Given the description of an element on the screen output the (x, y) to click on. 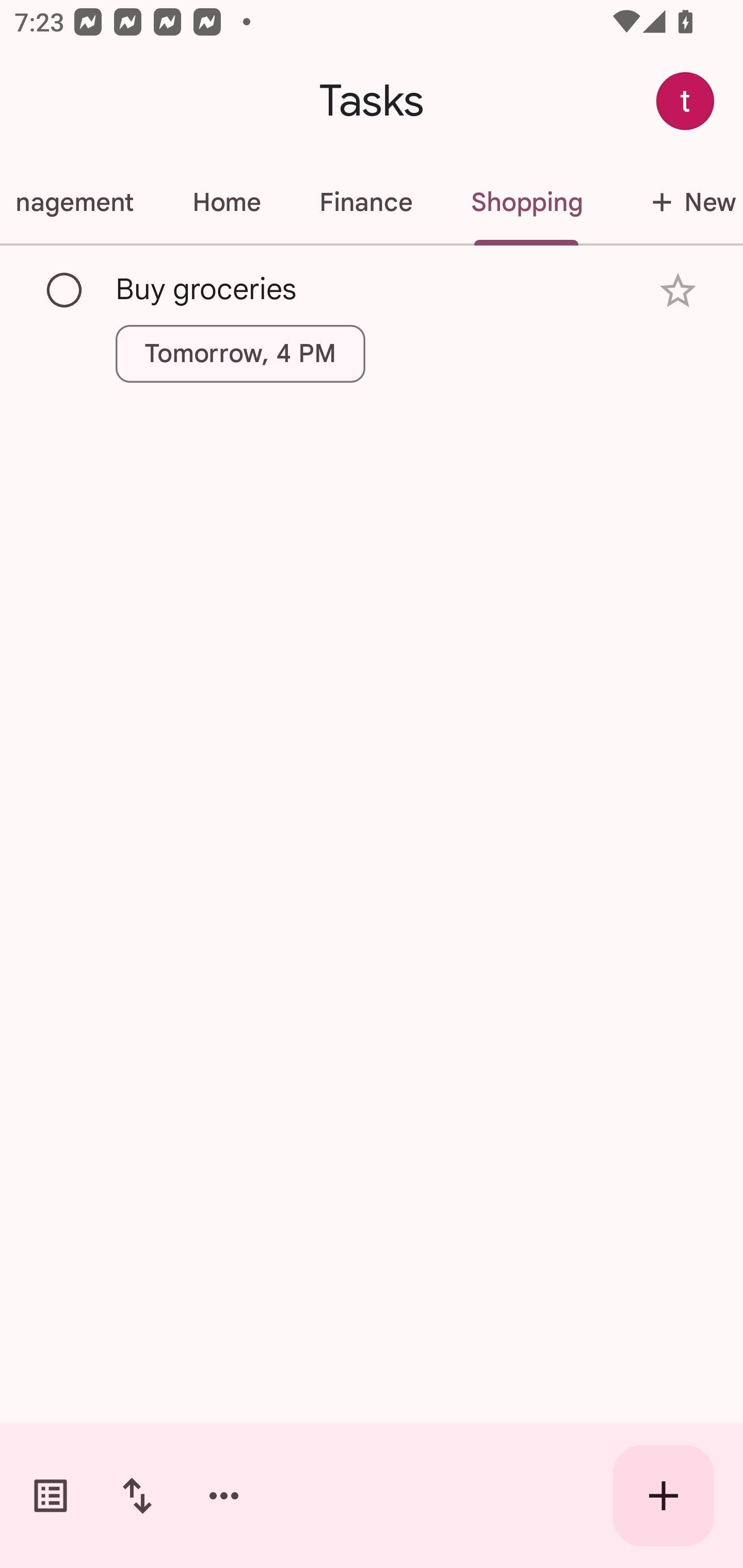
Home Management (81, 202)
Home (225, 202)
Finance (365, 202)
New list (677, 202)
Add star (677, 290)
Mark as complete (64, 290)
Tomorrow, 4 PM (240, 353)
Switch task lists (50, 1495)
Create new task (663, 1495)
Change sort order (136, 1495)
More options (223, 1495)
